Given the description of an element on the screen output the (x, y) to click on. 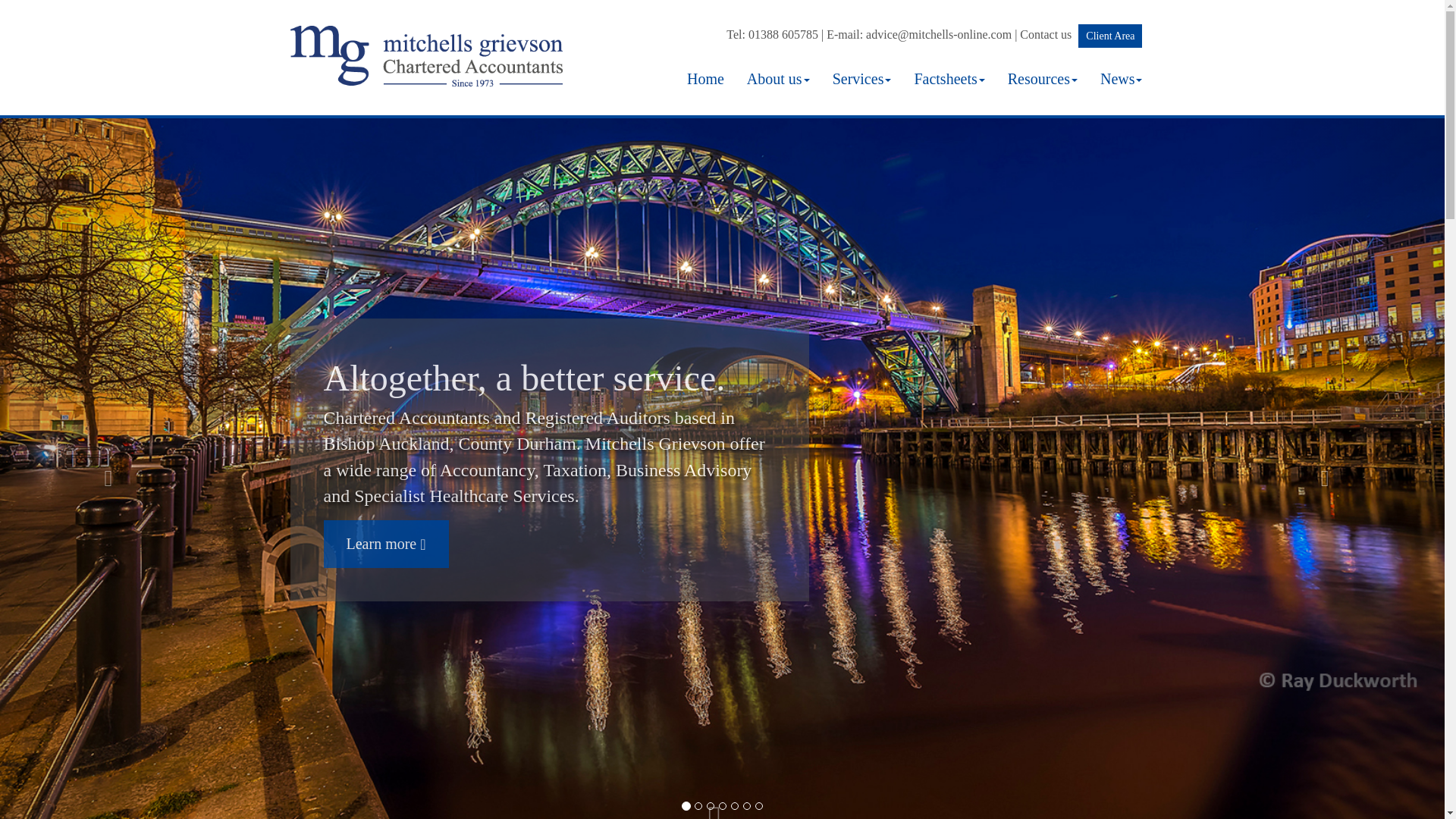
Services (861, 78)
Clientarea (1109, 35)
Services (861, 78)
Contact us (1045, 33)
Home (705, 78)
About us (778, 78)
Factsheets (948, 78)
Client Area (1109, 35)
Home (705, 78)
About us (778, 78)
Mitchells Grievson Chartered Accountants in Bishop Auckland (429, 33)
